Given the description of an element on the screen output the (x, y) to click on. 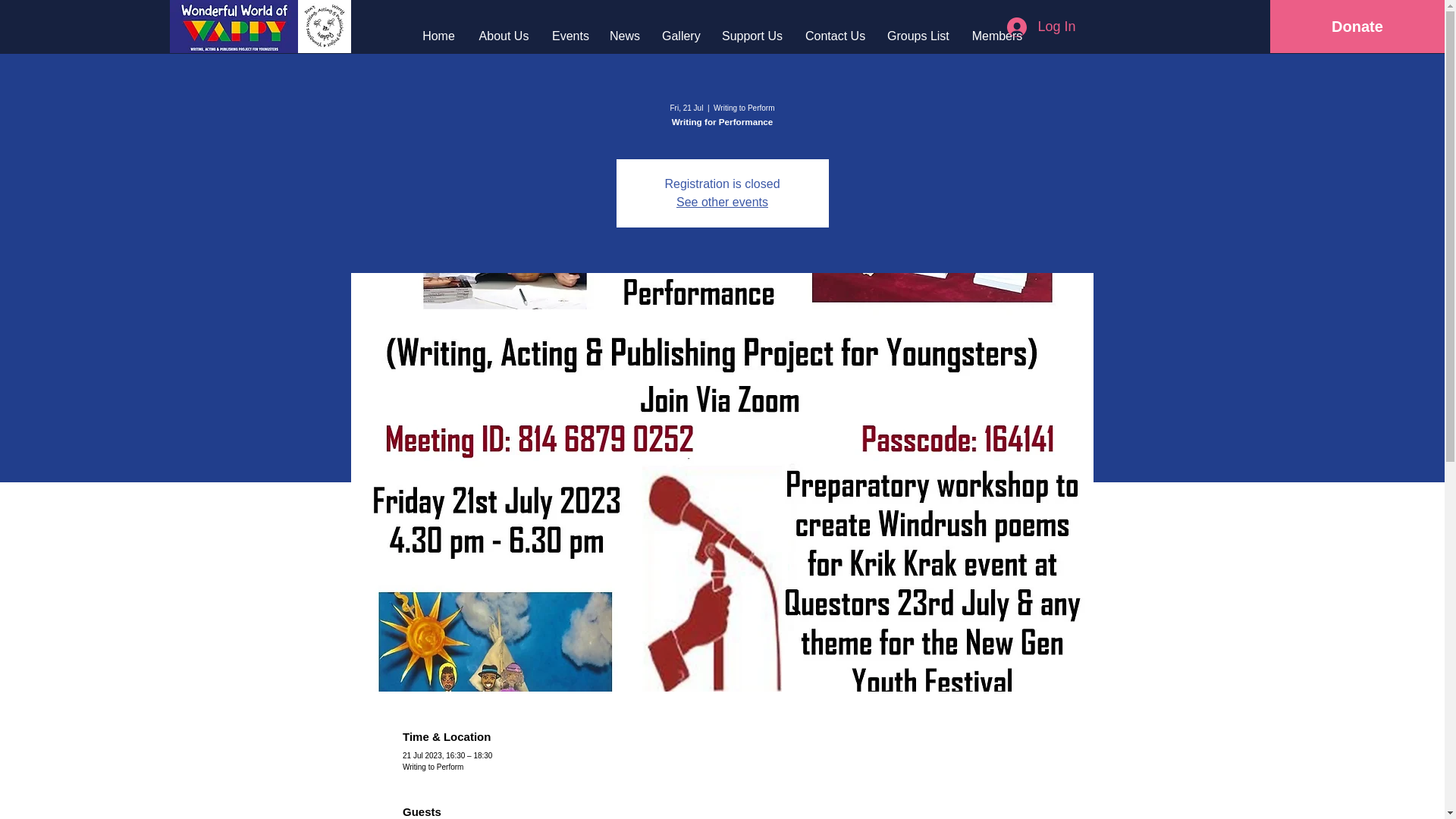
Home (438, 35)
Contact Us (834, 35)
Groups List (917, 35)
Support Us (751, 35)
About Us (503, 35)
Gallery (680, 35)
Members (996, 35)
Log In (1040, 26)
See other events (722, 201)
News (624, 35)
Events (569, 35)
